Given the description of an element on the screen output the (x, y) to click on. 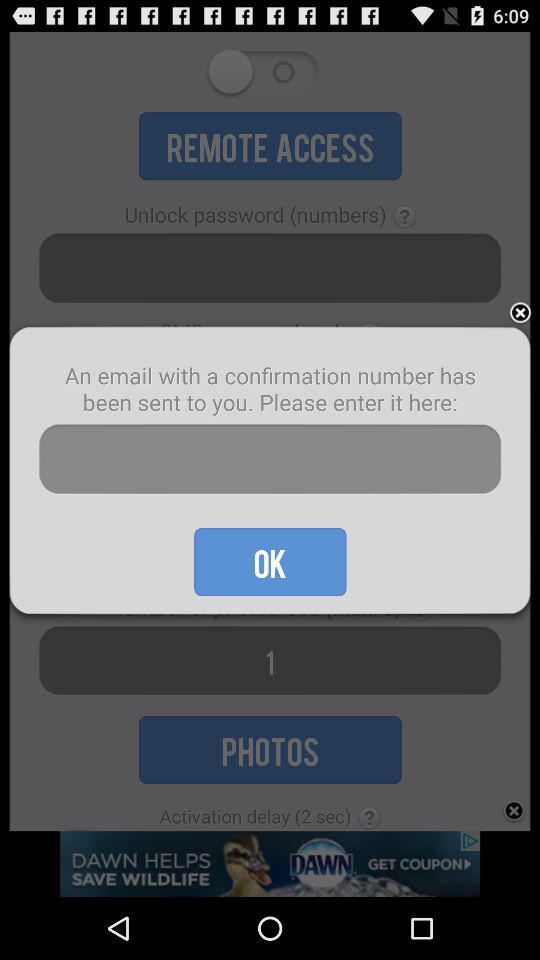
enter verification number (270, 459)
